Given the description of an element on the screen output the (x, y) to click on. 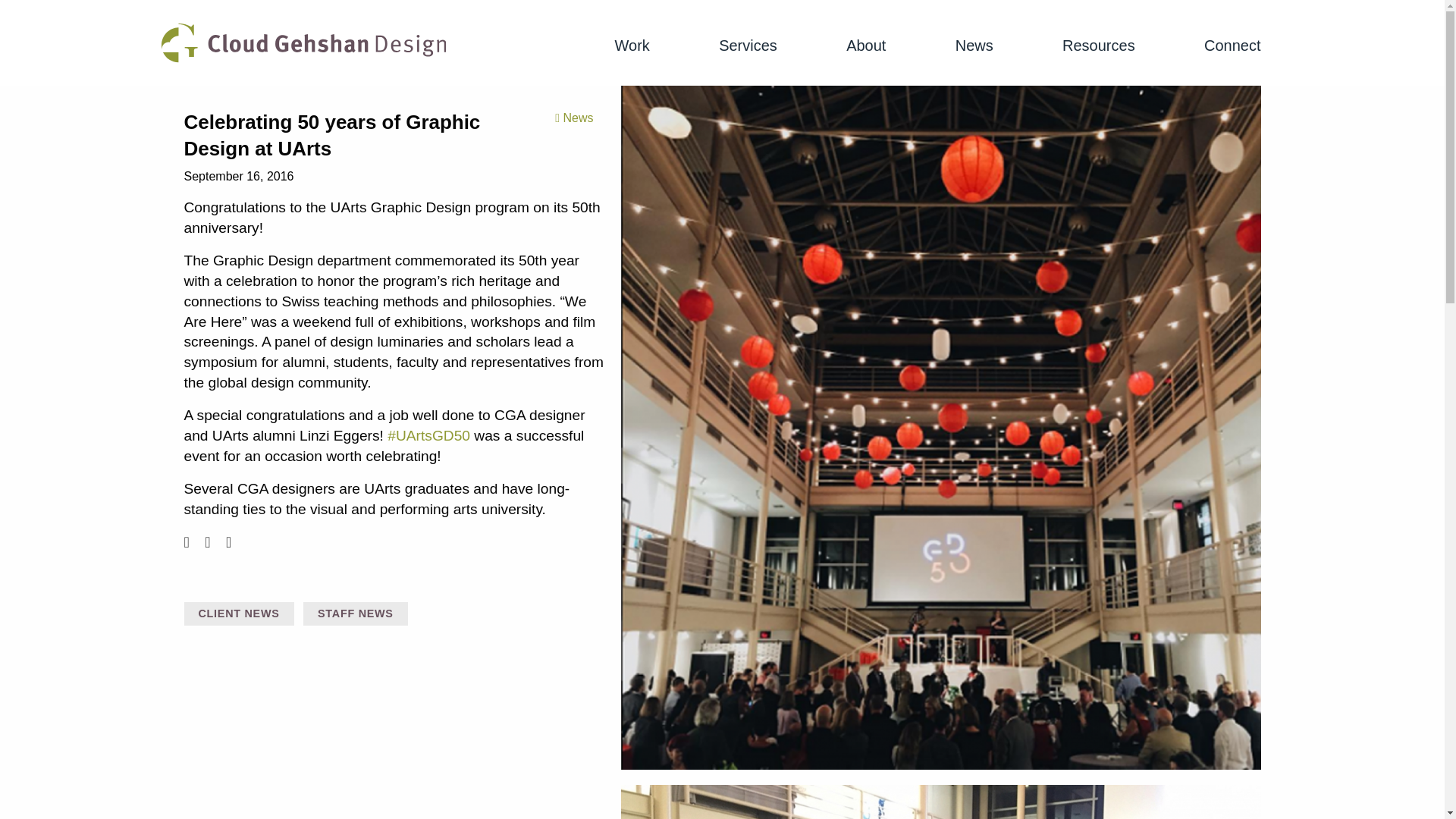
Resources (1098, 45)
Work (631, 45)
Services (748, 45)
News (973, 45)
Connect (1232, 45)
About (865, 45)
